Given the description of an element on the screen output the (x, y) to click on. 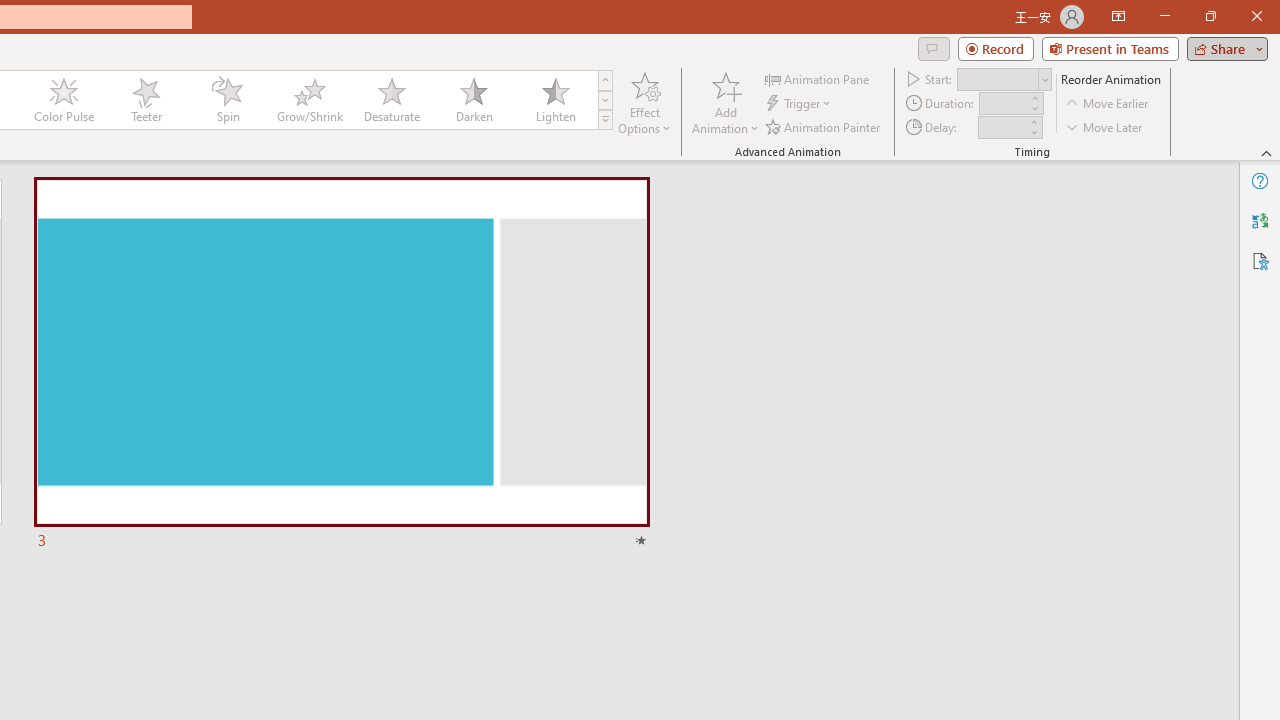
Grow/Shrink (309, 100)
Lighten (555, 100)
Teeter (145, 100)
Darken (473, 100)
Desaturate (391, 100)
